Given the description of an element on the screen output the (x, y) to click on. 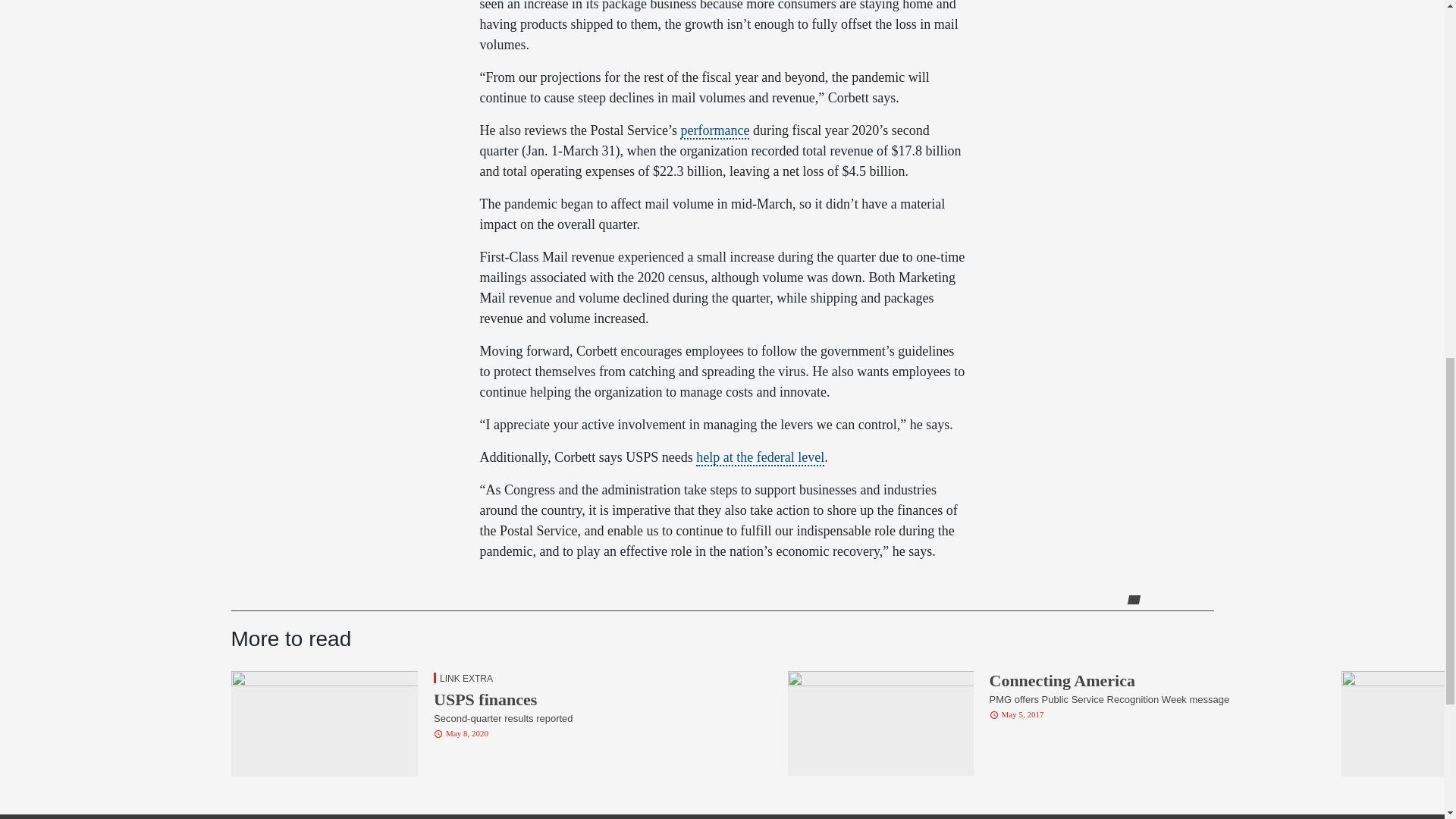
performance (714, 130)
help at the federal level (759, 457)
